Given the description of an element on the screen output the (x, y) to click on. 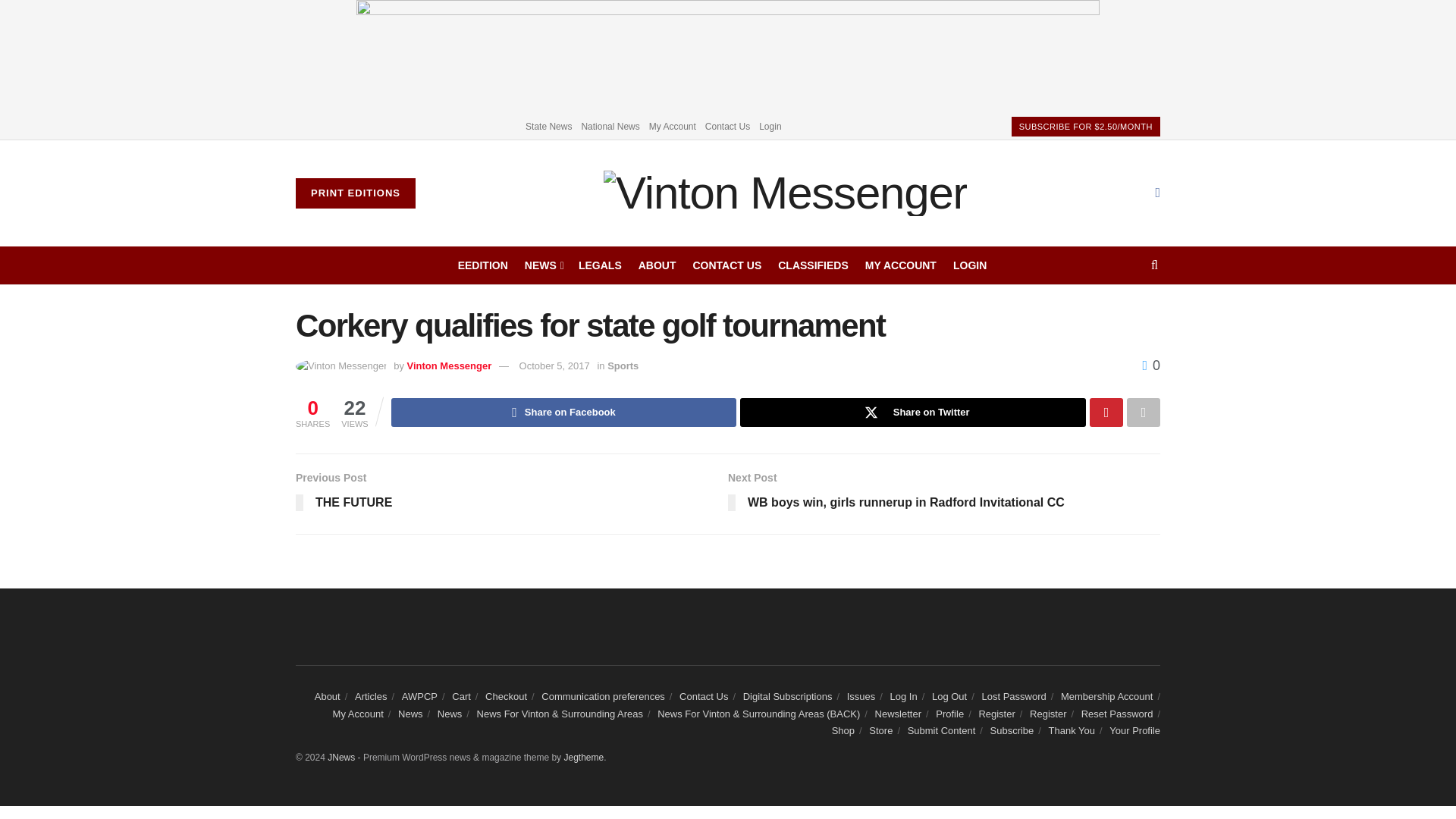
CONTACT US (727, 265)
State News (548, 126)
Share on Facebook (563, 412)
LOGIN (970, 265)
My Account (672, 126)
EEDITION (483, 265)
Share on Twitter (912, 412)
October 5, 2017 (554, 365)
Vinton Messenger (449, 365)
NEWS (543, 265)
